Given the description of an element on the screen output the (x, y) to click on. 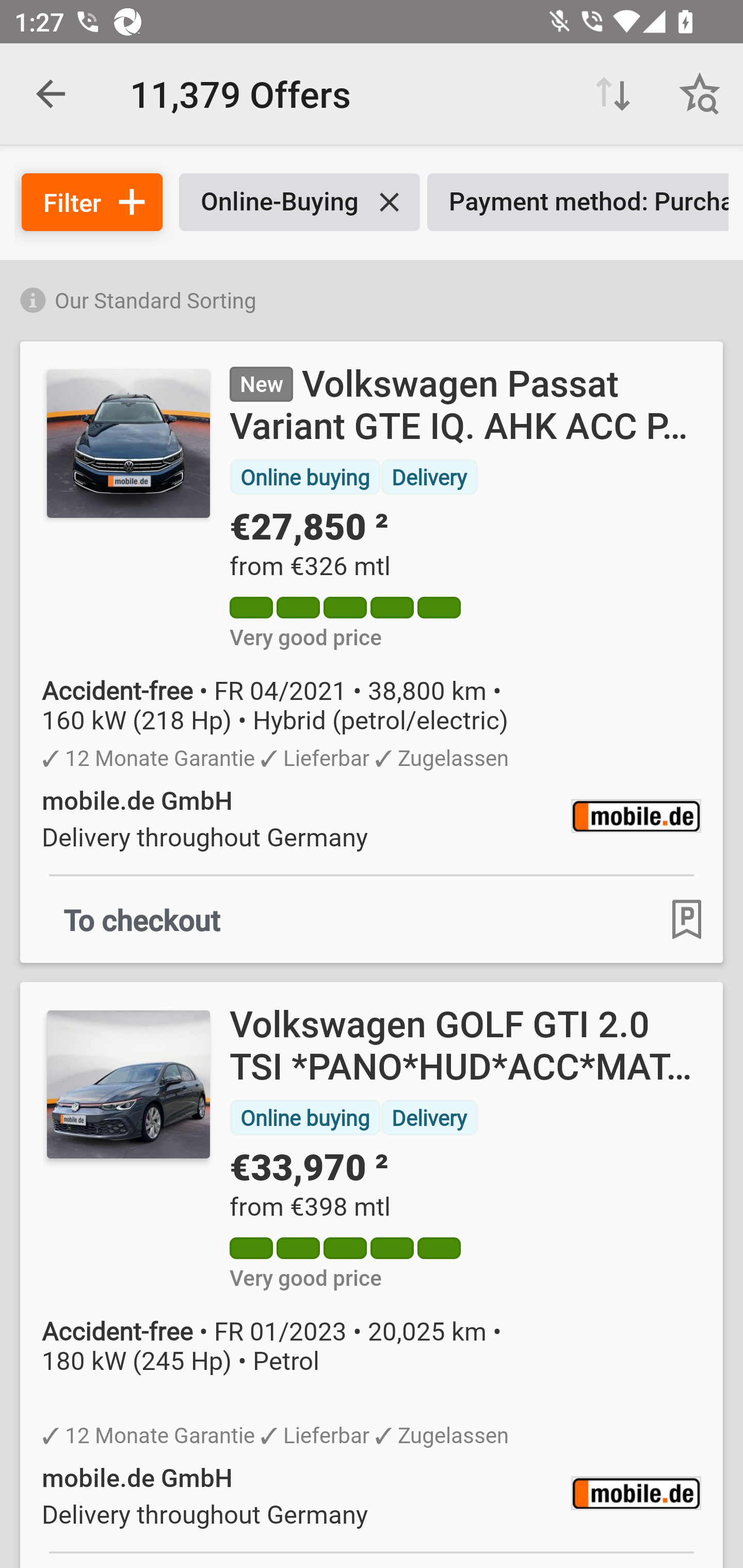
Navigate up (50, 93)
Sort options (612, 93)
Save search (699, 93)
Online-Buying Remove Online-Buying (299, 202)
Payment method: Purchase (577, 202)
Filter (91, 202)
Our Standard Sorting (371, 296)
To checkout (142, 919)
